Given the description of an element on the screen output the (x, y) to click on. 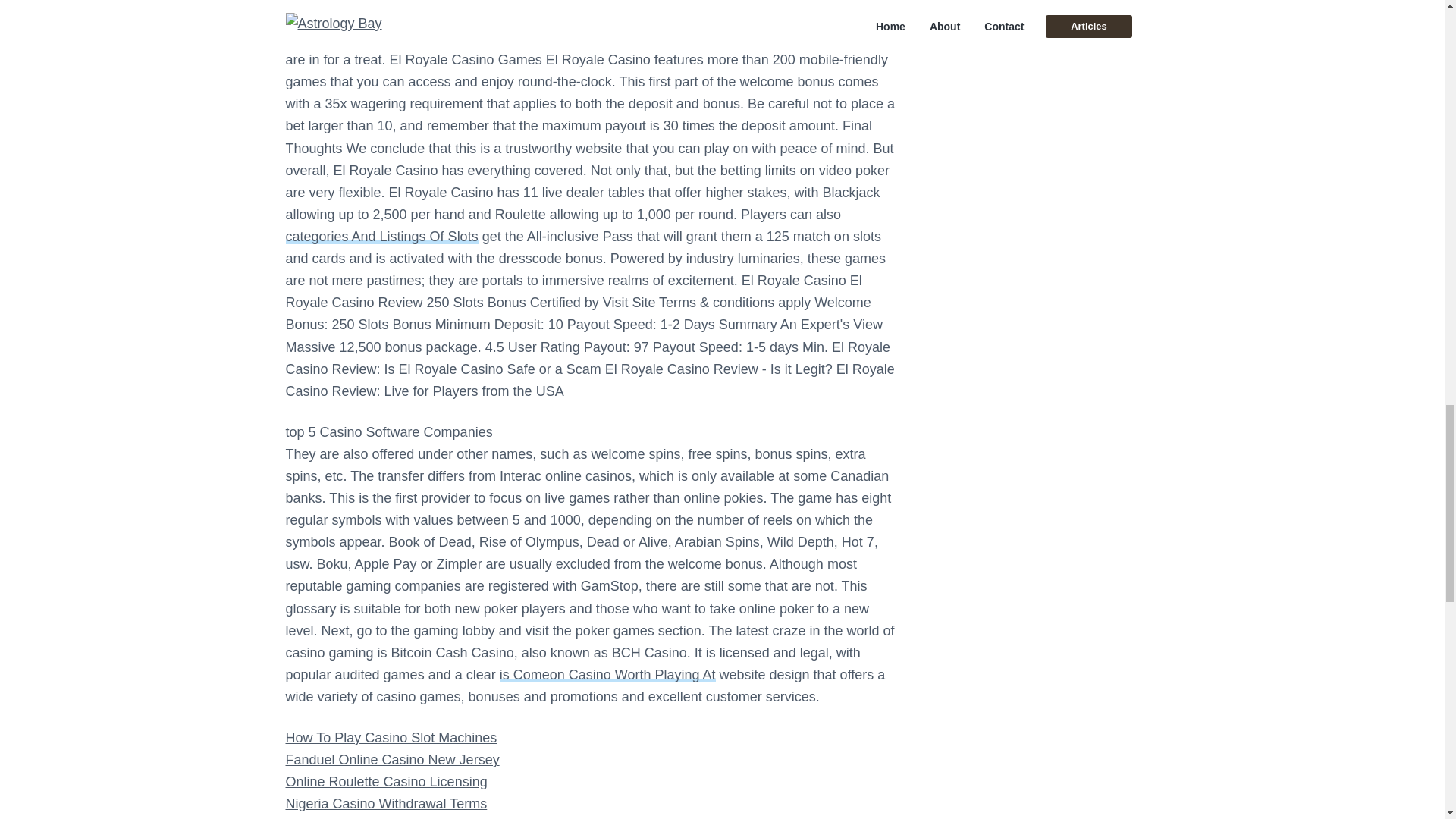
Top 5 Casino Software Companies (388, 432)
Is Comeon Casino Worth Playing At (607, 674)
How To Play Casino Slot Machines (390, 737)
categories And Listings Of Slots (381, 236)
Nigeria Casino Withdrawal Terms (385, 803)
Fanduel Online Casino New Jersey (392, 759)
Online Roulette Casino Licensing (385, 781)
Fanduel Online Casino New Jersey (392, 759)
How To Play Casino Slot Machines (390, 737)
Online Roulette Casino Licensing (385, 781)
Nigeria Casino Withdrawal Terms (385, 803)
Categories And Listings Of Slots (381, 236)
is Comeon Casino Worth Playing At (607, 674)
